Given the description of an element on the screen output the (x, y) to click on. 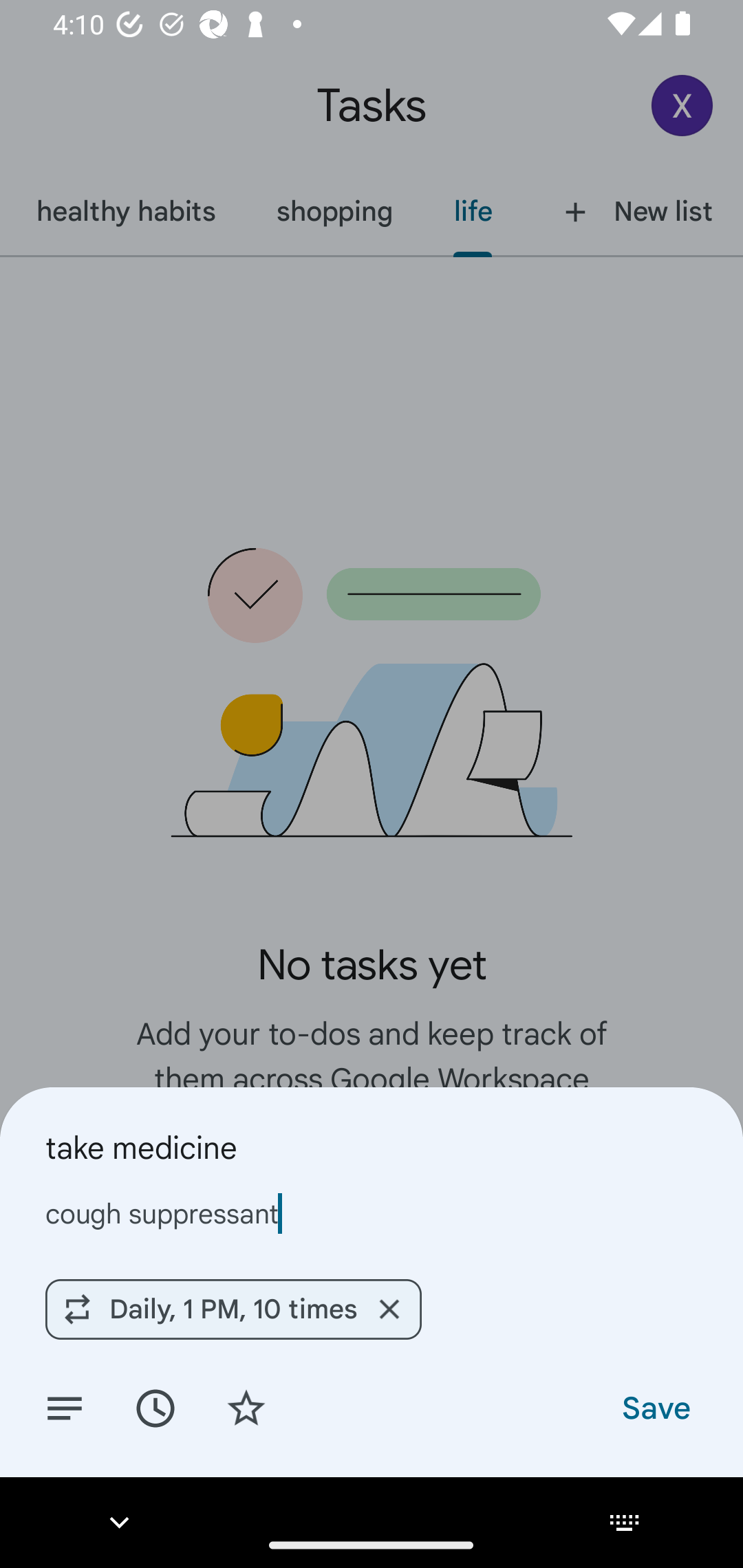
take medicine (371, 1147)
cough suppressant (371, 1213)
Daily, 1 PM, 10 times Remove Daily, 1 PM, 10 times (233, 1308)
Save (655, 1407)
Add details (64, 1407)
Set date/time (154, 1407)
Add star (245, 1407)
